Given the description of an element on the screen output the (x, y) to click on. 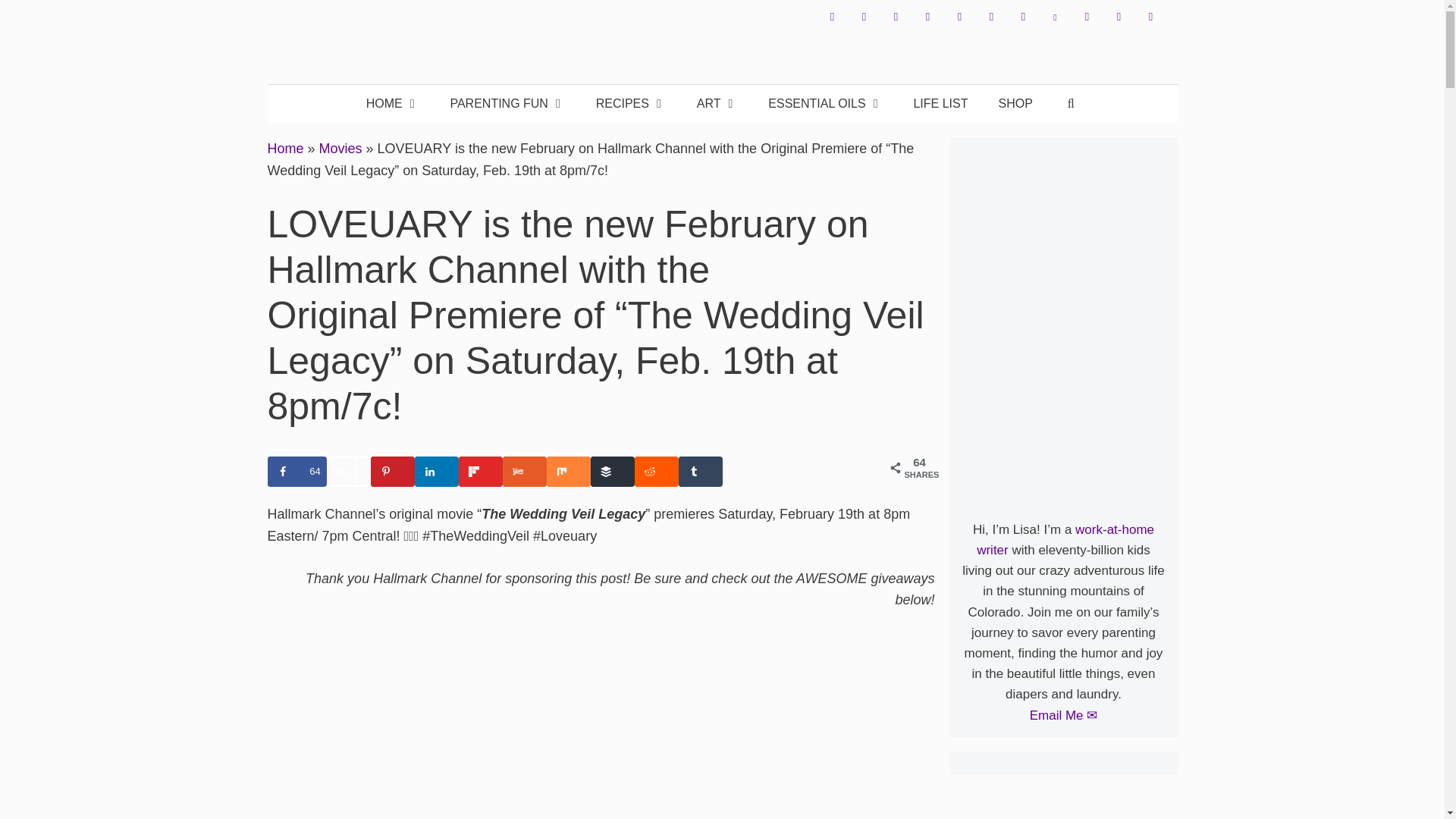
ESSENTIAL OILS (825, 103)
HOME (392, 103)
Contact (1022, 16)
LinkedIn (959, 16)
Instagram (895, 16)
Facebook (831, 16)
Stumbleupon (1118, 16)
YouTube (991, 16)
ART (717, 103)
Blog Lovin' (1054, 16)
